Given the description of an element on the screen output the (x, y) to click on. 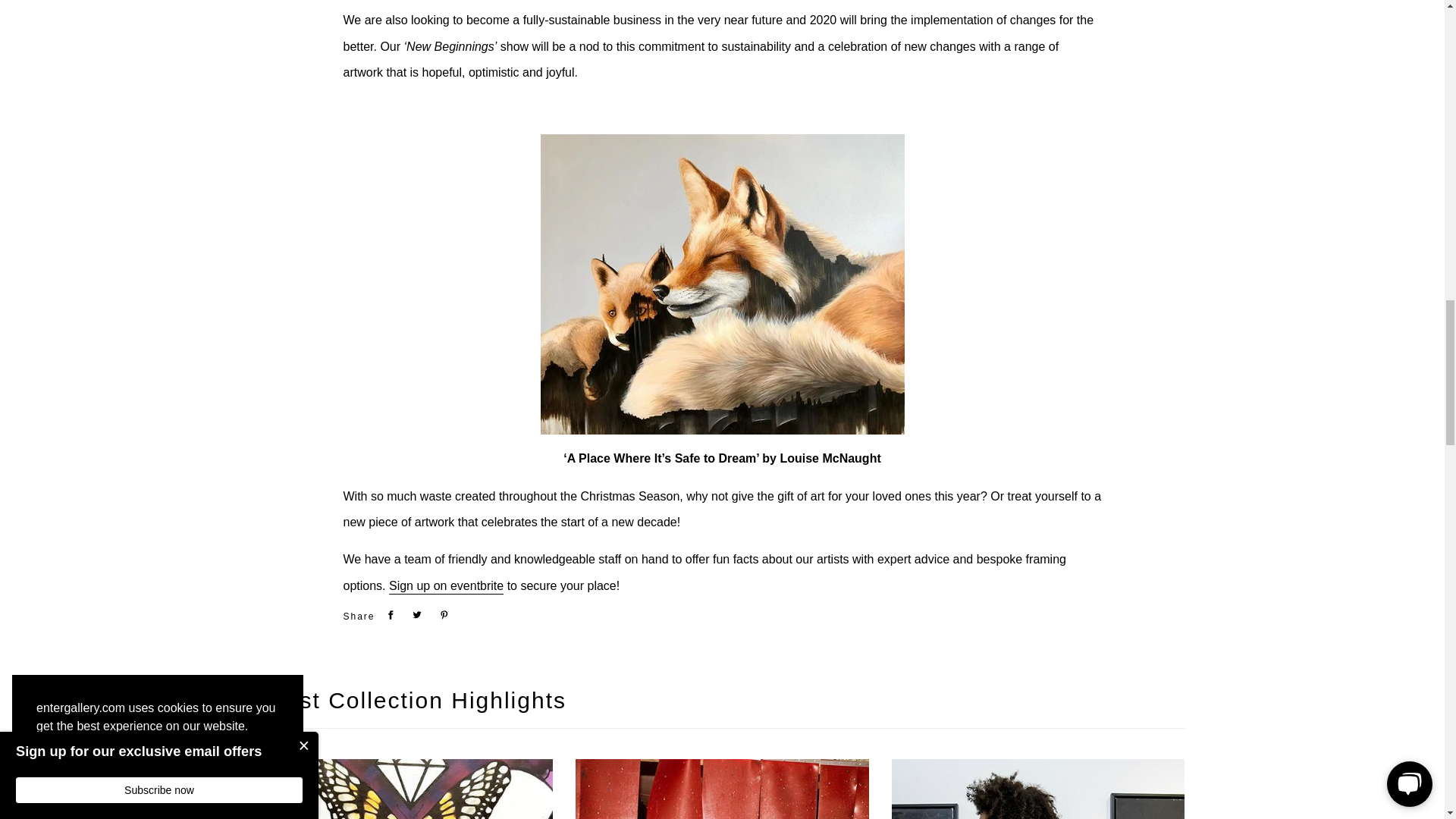
Browse our Dave Buonaguidi collection (722, 789)
Browse our Copyright collection (406, 789)
Browse our Euan Roberts collection (1038, 789)
